Given the description of an element on the screen output the (x, y) to click on. 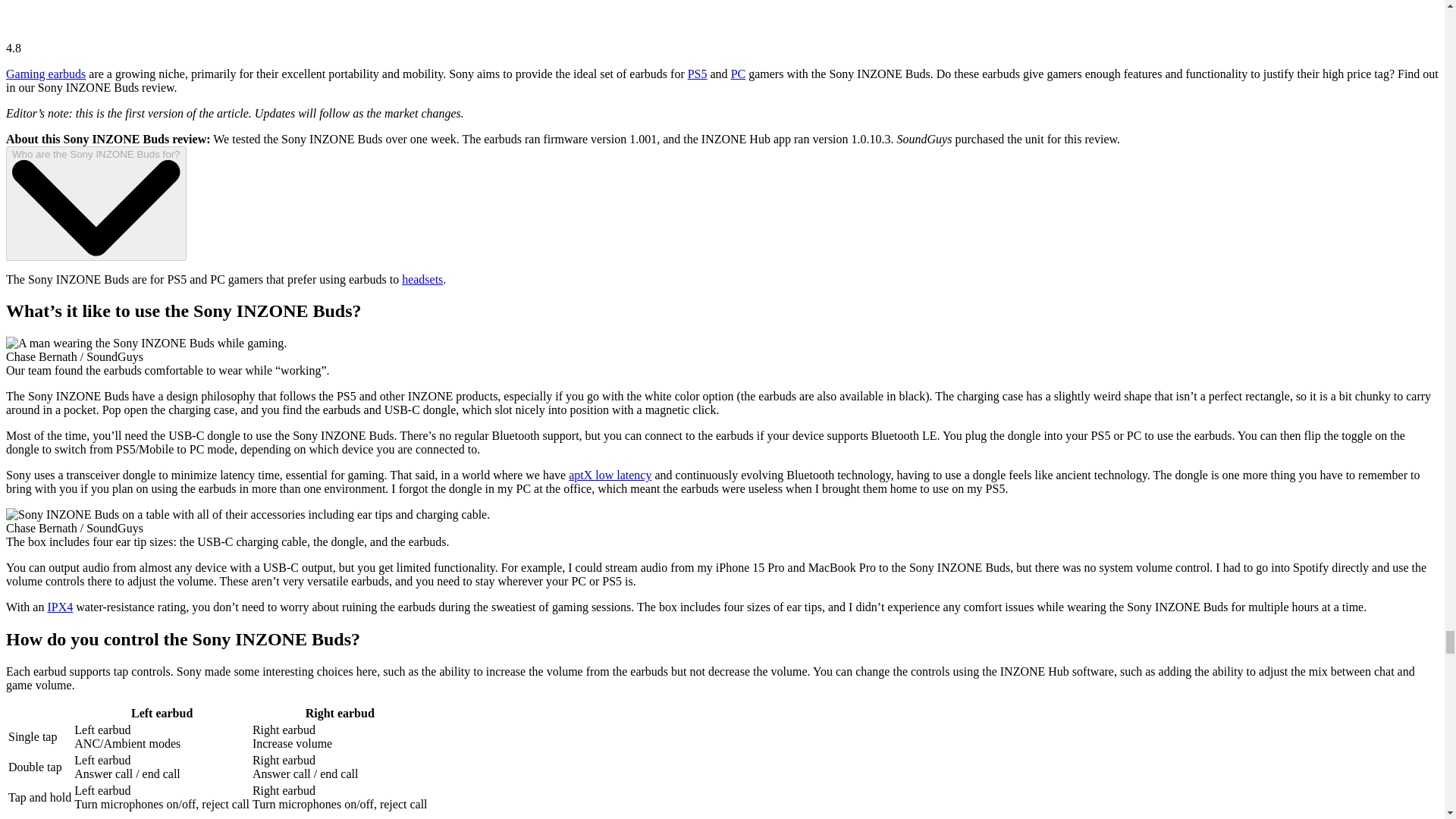
Gaming earbuds (45, 73)
Sony INZONE Buds accessories (247, 514)
PS5 (697, 73)
PC (737, 73)
aptX low latency (609, 474)
headsets (421, 278)
Who are the Sony INZONE Buds for? (95, 203)
IPX4 (59, 606)
Sony INZONE Buds gaming with PS5 (145, 343)
